Given the description of an element on the screen output the (x, y) to click on. 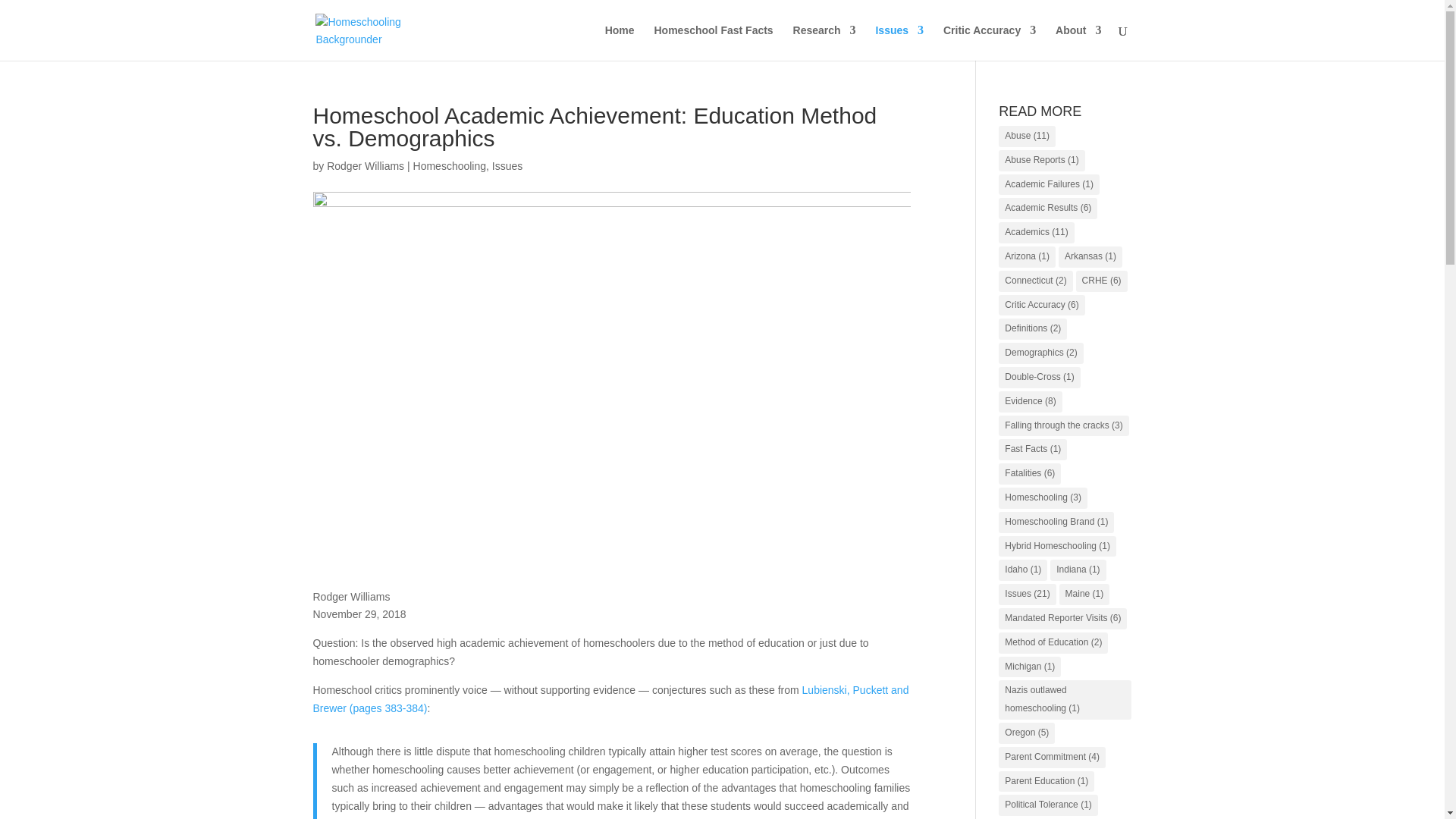
Posts by Rodger Williams (365, 165)
Homeschool Fast Facts (713, 42)
Research (824, 42)
Issues (899, 42)
